Given the description of an element on the screen output the (x, y) to click on. 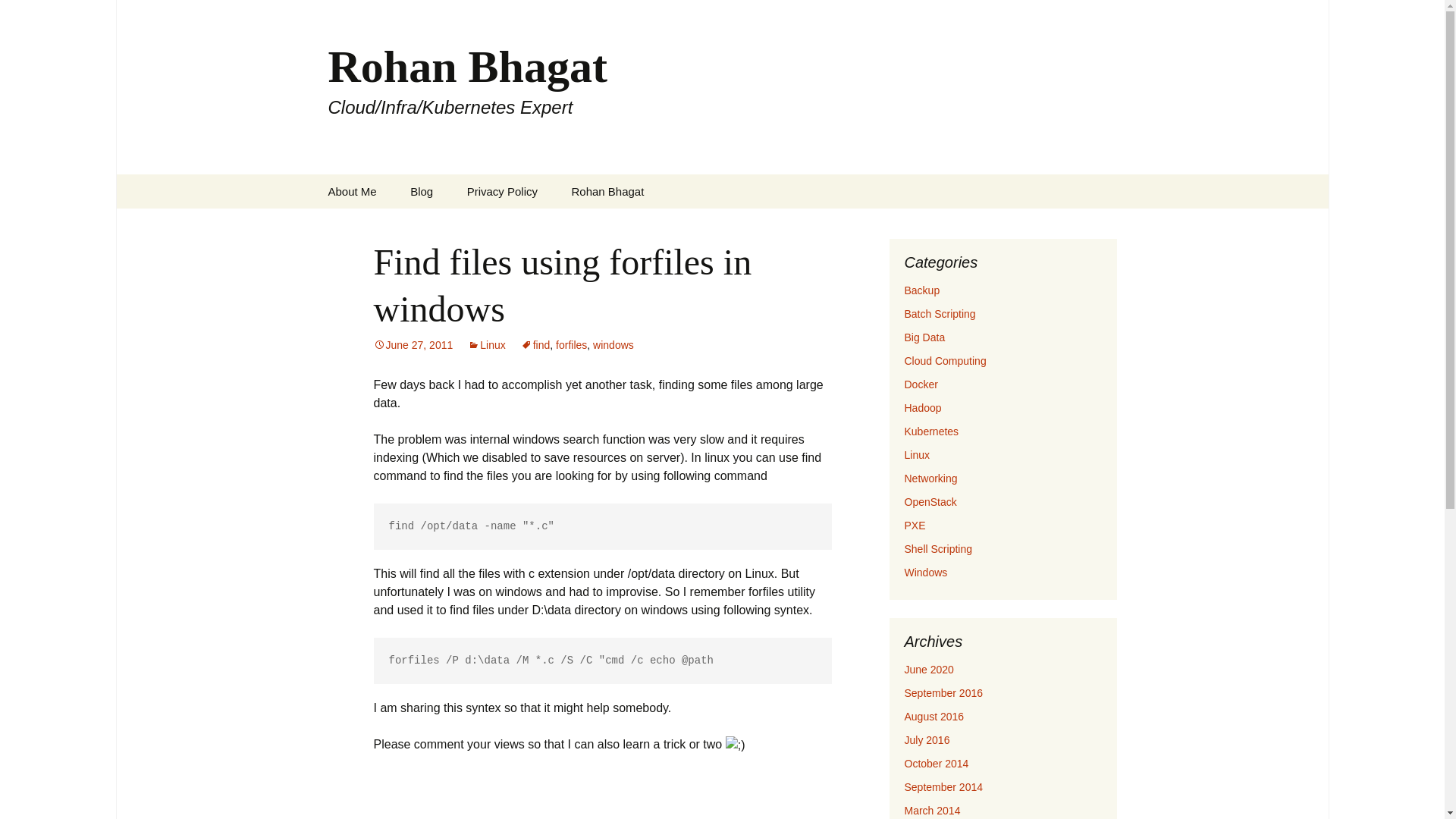
Search (18, 15)
Networking (930, 478)
October 2014 (936, 763)
Docker (920, 384)
August 2016 (933, 716)
Backup (921, 290)
Blog (421, 191)
windows (612, 345)
Hadoop (922, 408)
forfiles (571, 345)
Search (34, 15)
June 2020 (928, 669)
